Given the description of an element on the screen output the (x, y) to click on. 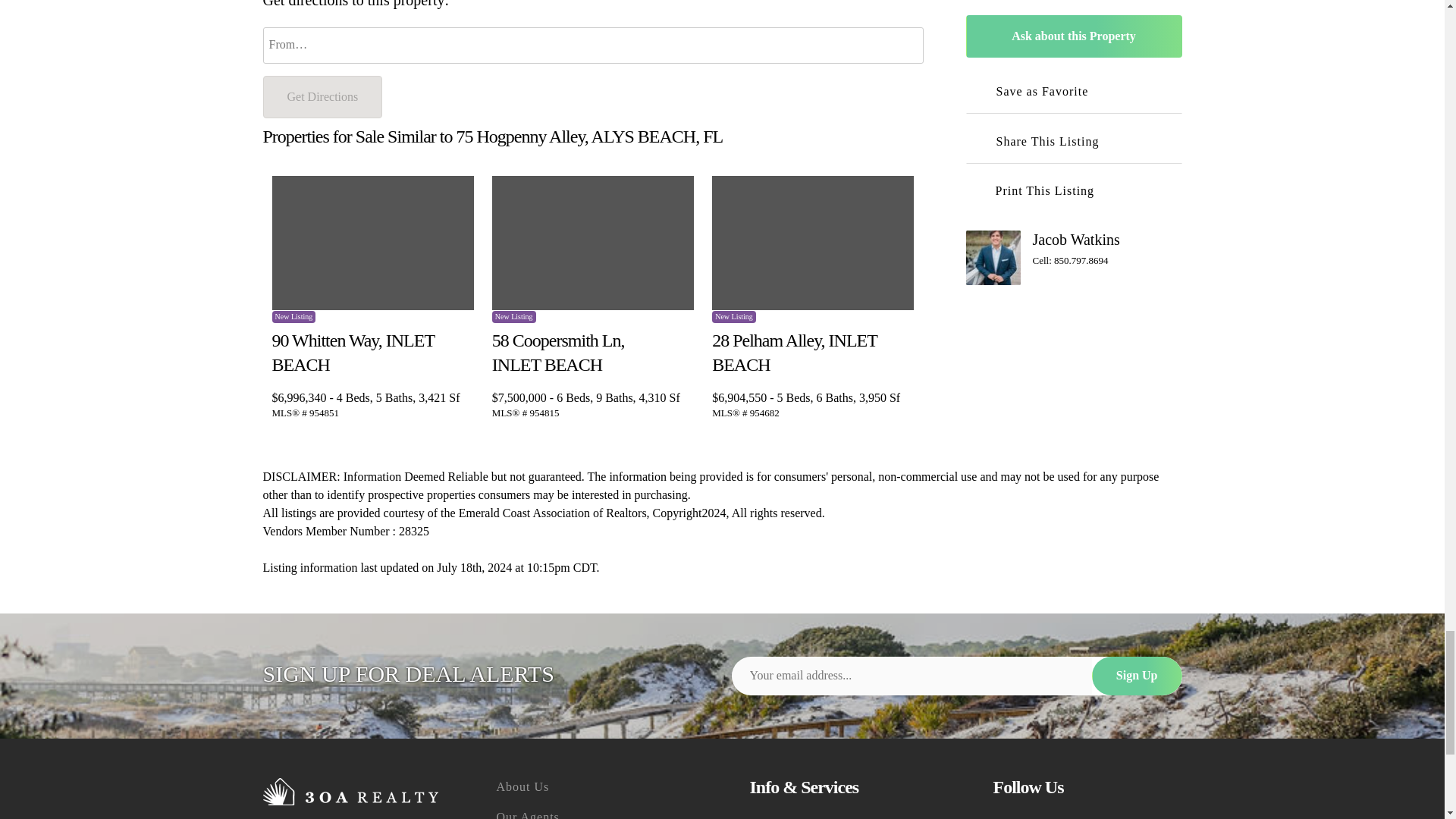
Save Listing (463, 337)
Site Logo (350, 791)
Save Listing (903, 337)
Save Listing (683, 337)
